Given the description of an element on the screen output the (x, y) to click on. 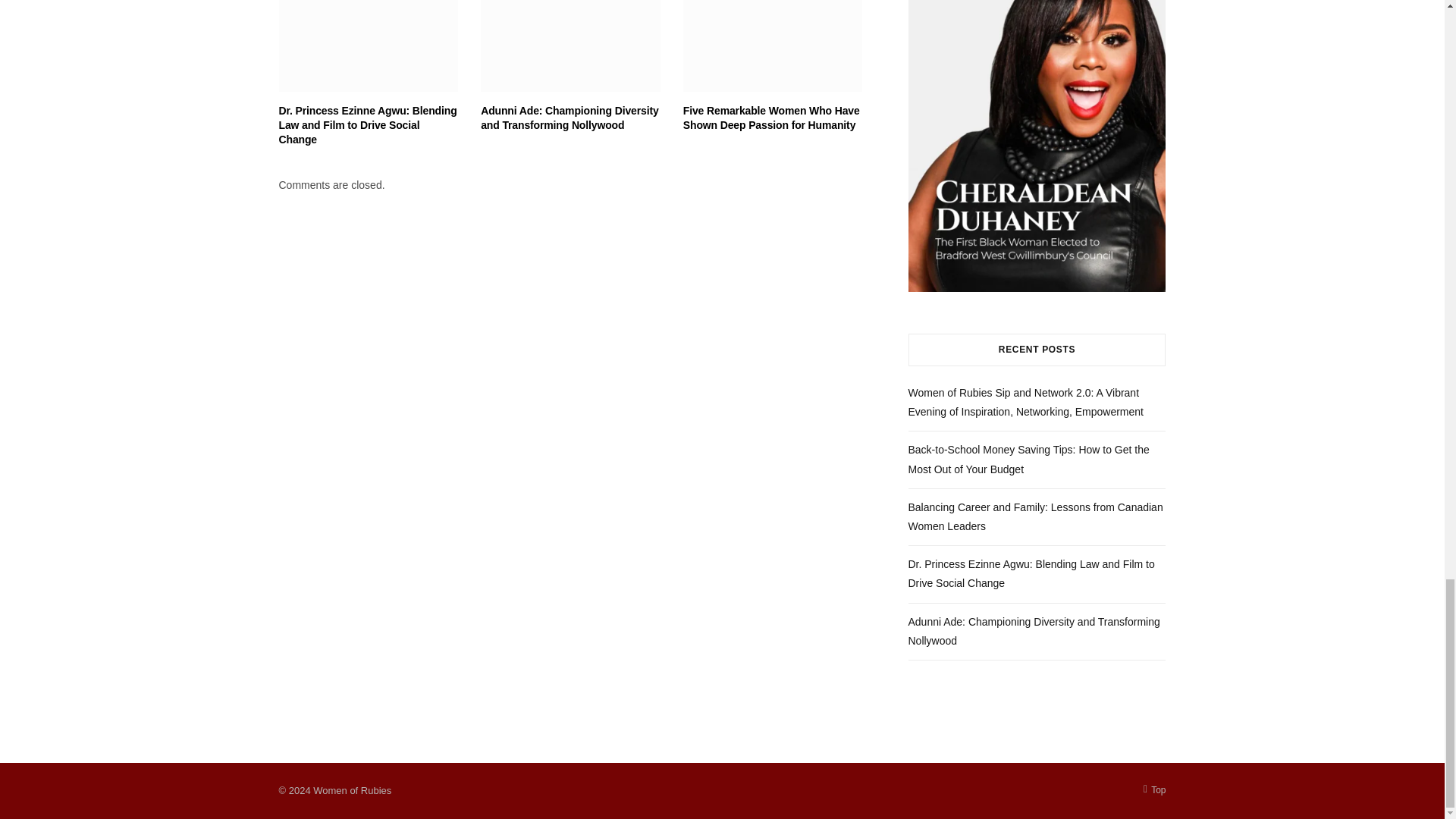
Adunni Ade: Championing Diversity and Transforming Nollywood (569, 117)
